Given the description of an element on the screen output the (x, y) to click on. 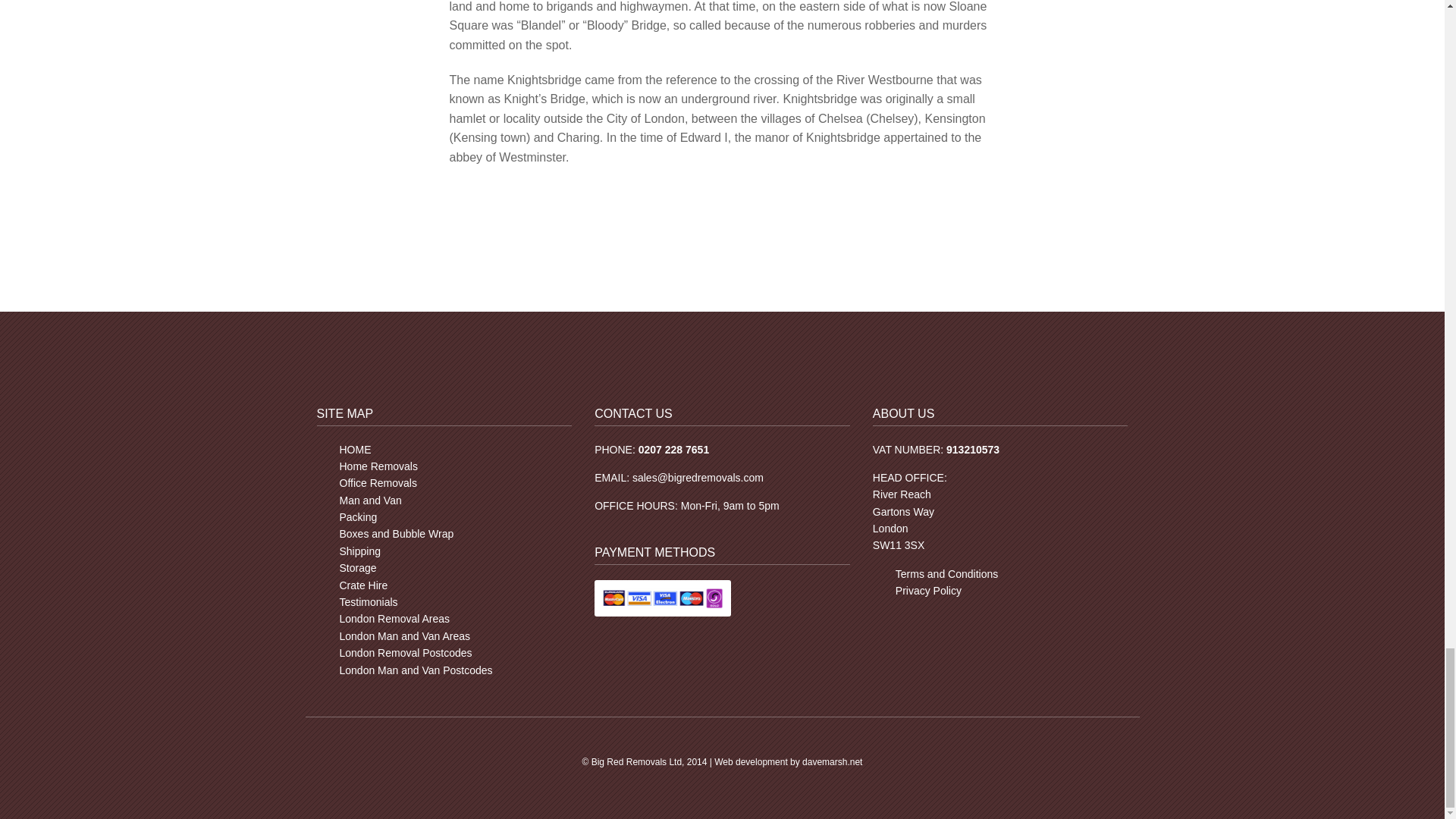
Storage (358, 567)
Man and Van (370, 500)
Packing (358, 517)
Boxes and Bubble Wrap (396, 533)
Office Removals (377, 482)
Home Removals (378, 466)
Shipping (360, 551)
HOME (355, 449)
